Given the description of an element on the screen output the (x, y) to click on. 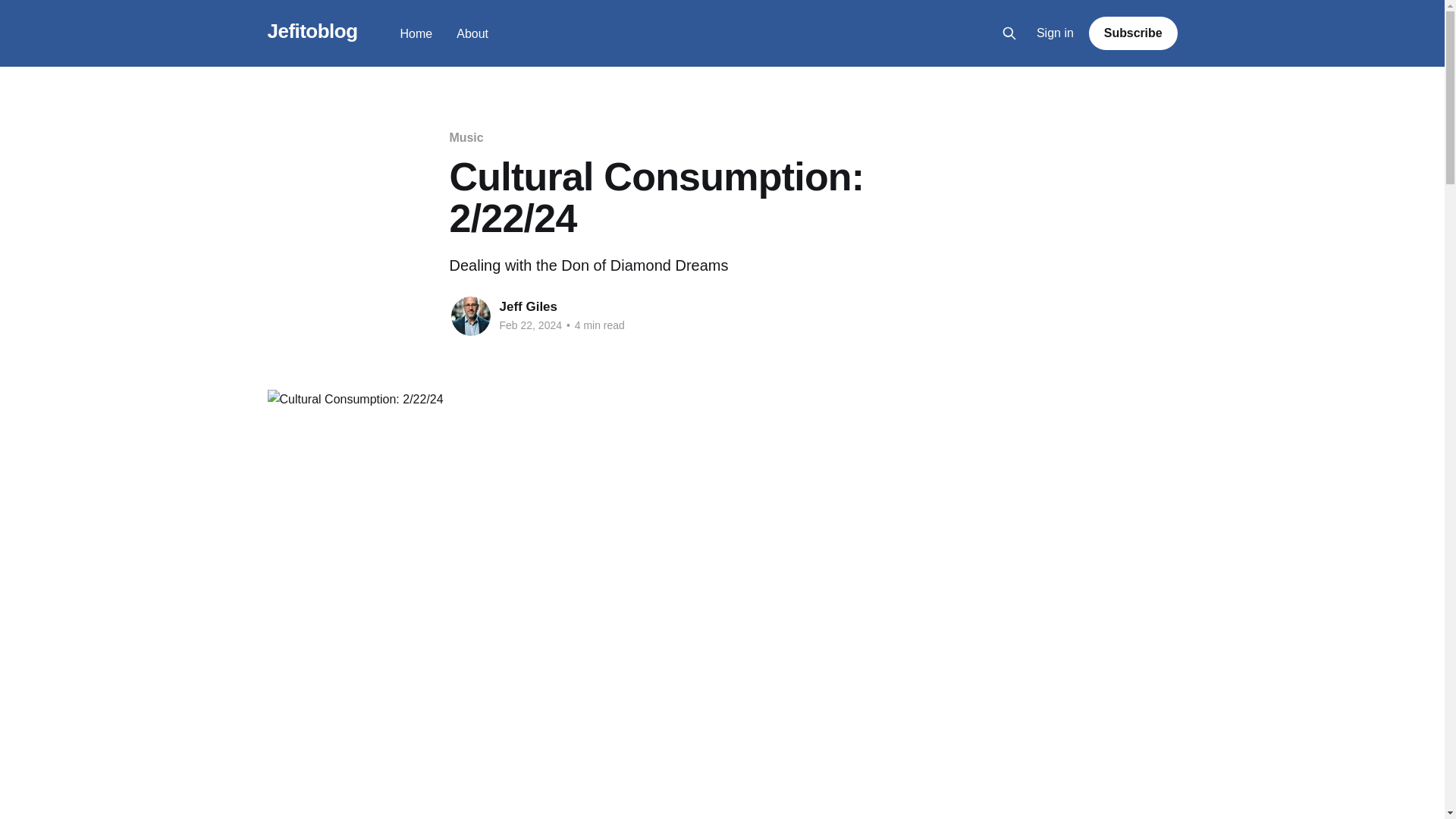
About (472, 33)
Sign in (1055, 33)
Home (416, 33)
Subscribe (1133, 32)
Music (465, 137)
Jefitoblog (311, 31)
Jeff Giles (528, 306)
